Given the description of an element on the screen output the (x, y) to click on. 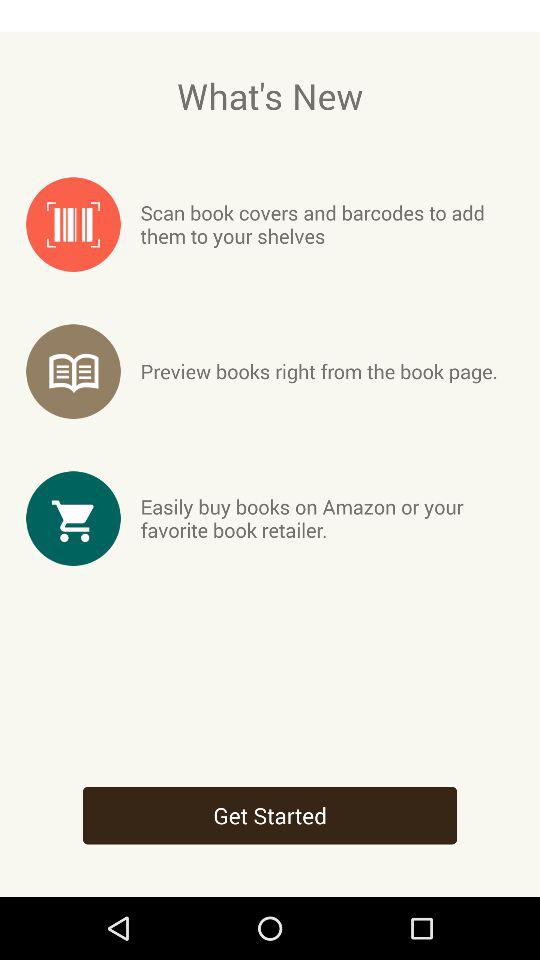
jump until easily buy books (326, 518)
